Given the description of an element on the screen output the (x, y) to click on. 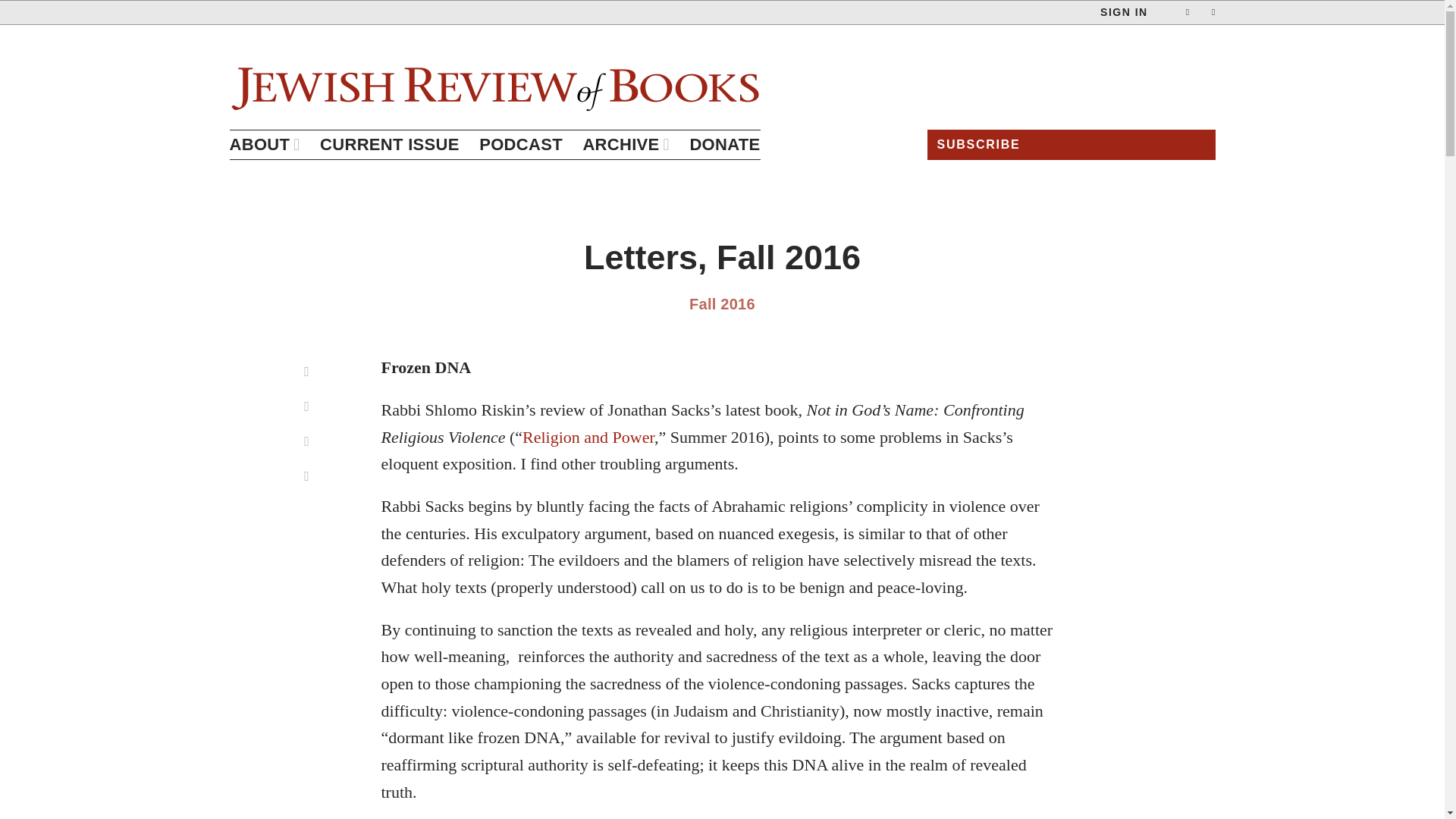
Facebook (306, 441)
Religion and Power (587, 436)
ABOUT (263, 144)
CURRENT ISSUE (390, 144)
Fall 2016 (721, 303)
Email (306, 406)
DONATE (724, 144)
Print (306, 371)
SIGN IN (1124, 12)
PODCAST (520, 144)
Twitter (306, 475)
ARCHIVE (625, 144)
SUBSCRIBE (1070, 143)
